Given the description of an element on the screen output the (x, y) to click on. 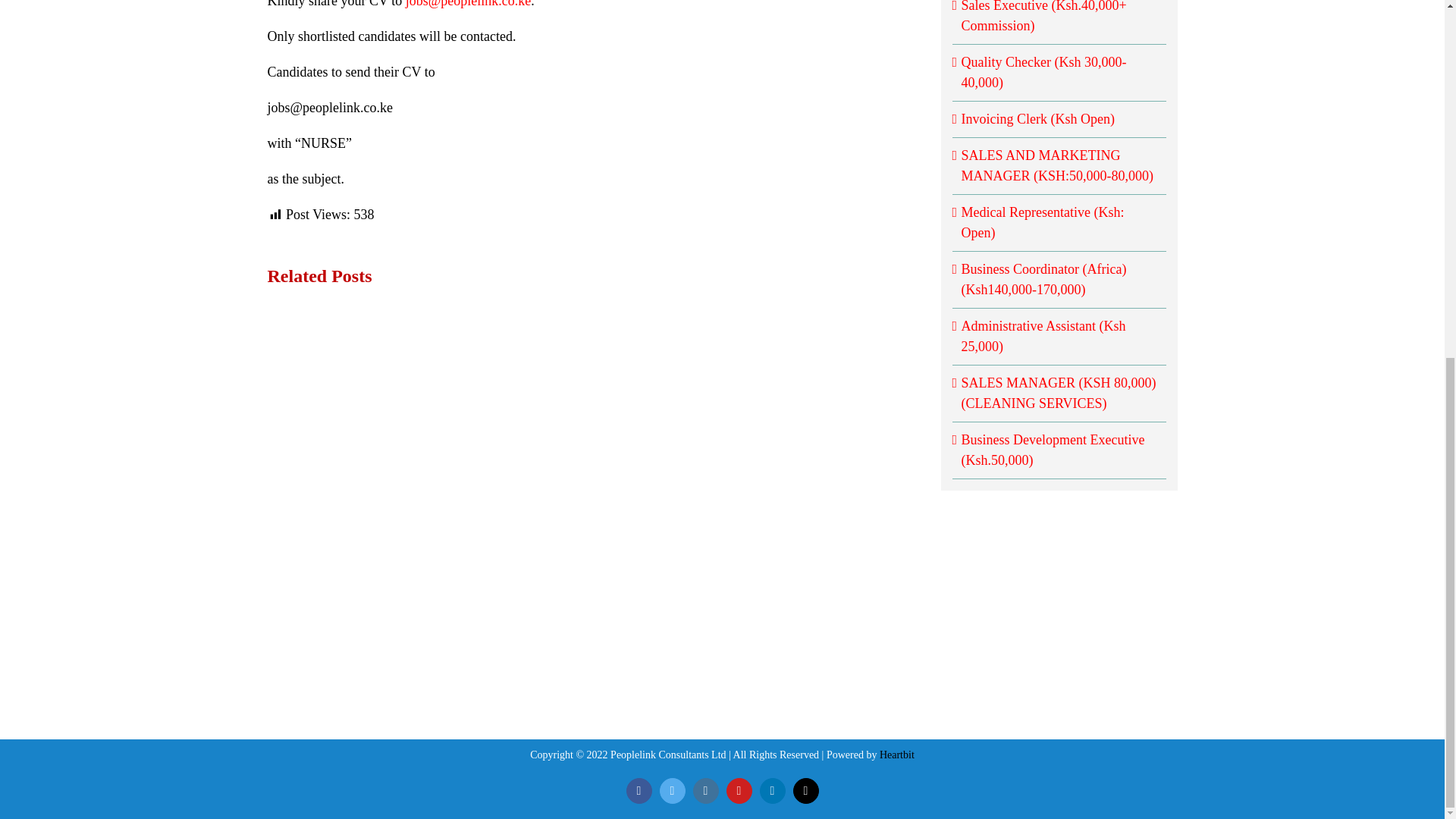
Twitter (672, 790)
Facebook (639, 790)
YouTube (739, 790)
Instagram (706, 790)
LinkedIn (773, 790)
